Given the description of an element on the screen output the (x, y) to click on. 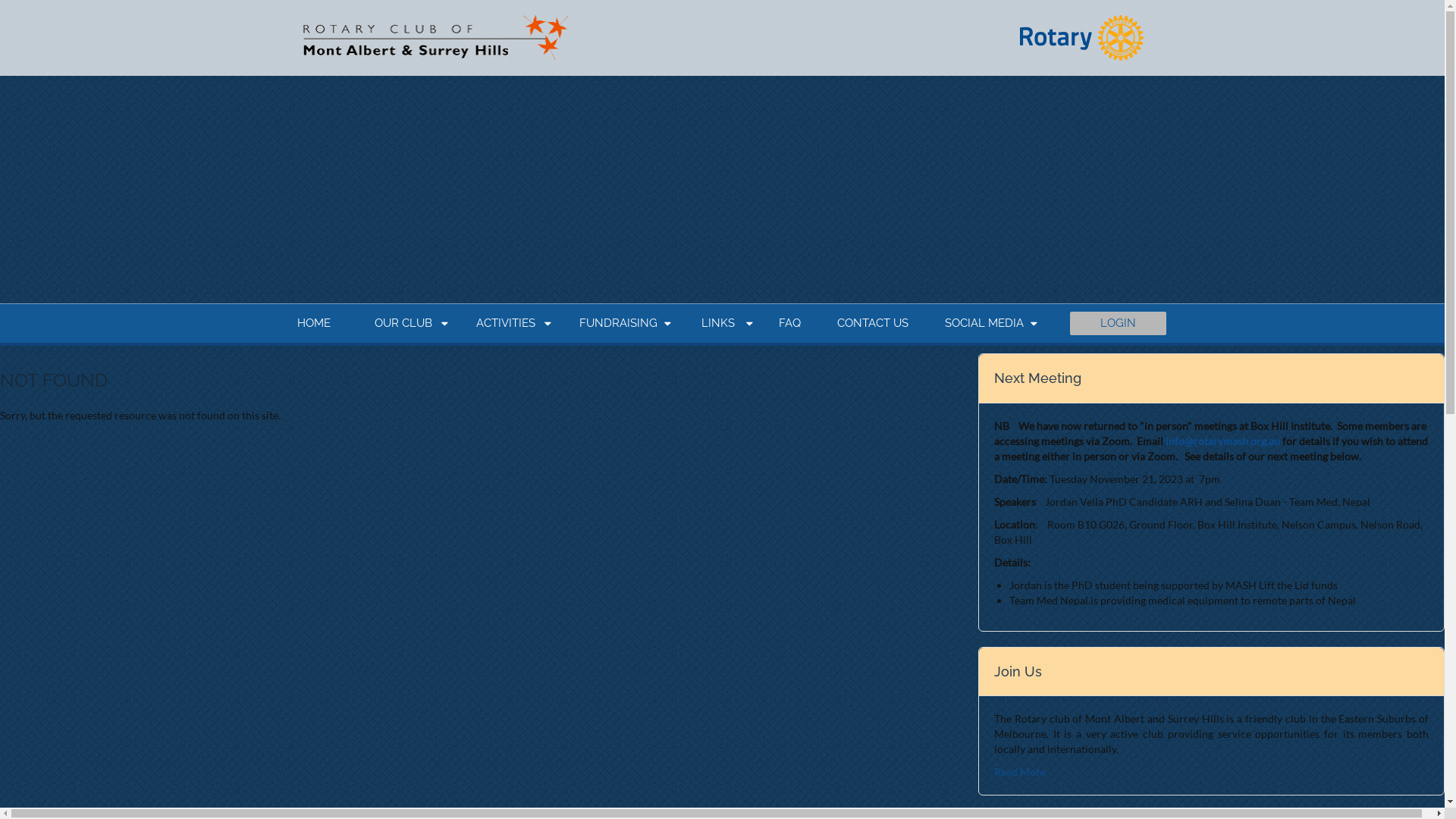
info@rotarymash.org.au Element type: text (1222, 440)
The Rotary Club of MASH Element type: text (437, 37)
Rotary Element type: text (1080, 37)
OUR CLUB Element type: text (407, 323)
SOCIAL MEDIA Element type: text (987, 323)
ACTIVITIES Element type: text (509, 323)
HOME Element type: text (317, 323)
LOGIN Element type: text (1117, 323)
FAQ Element type: text (788, 323)
LINKS Element type: text (720, 323)
FUNDRAISING Element type: text (622, 323)
Read More Element type: text (1019, 771)
CONTACT US Element type: text (872, 323)
